Given the description of an element on the screen output the (x, y) to click on. 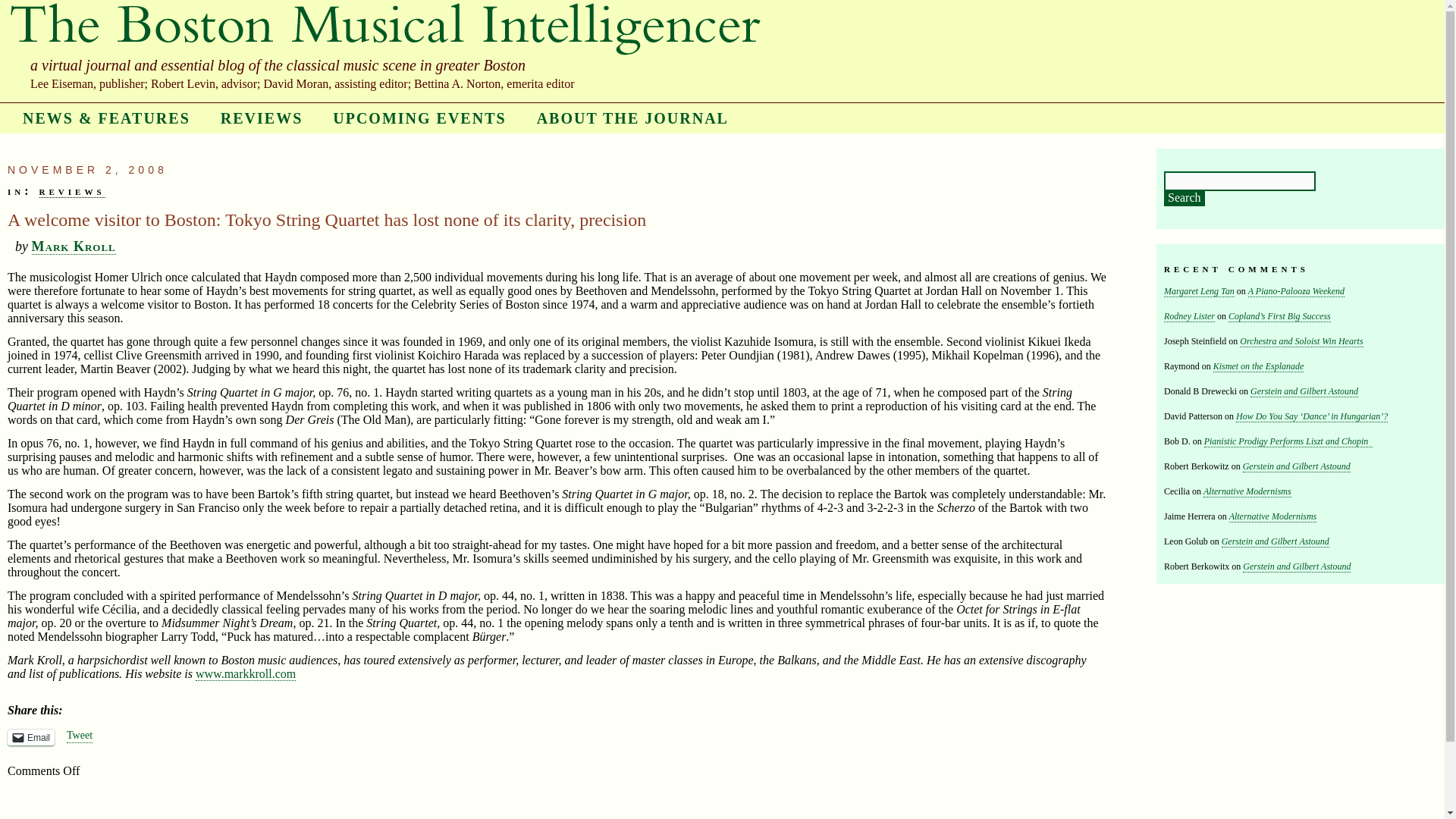
Mark Kroll (74, 246)
Search (1184, 198)
Pianistic Prodigy Performs Liszt and Chopin   (1288, 441)
Gerstein and Gilbert Astound (1297, 566)
Gerstein and Gilbert Astound (1297, 466)
Alternative Modernisms (1247, 491)
Search (1184, 198)
Kismet on the Esplanade (1258, 366)
Margaret Leng Tan (1198, 291)
Search (1184, 198)
